Given the description of an element on the screen output the (x, y) to click on. 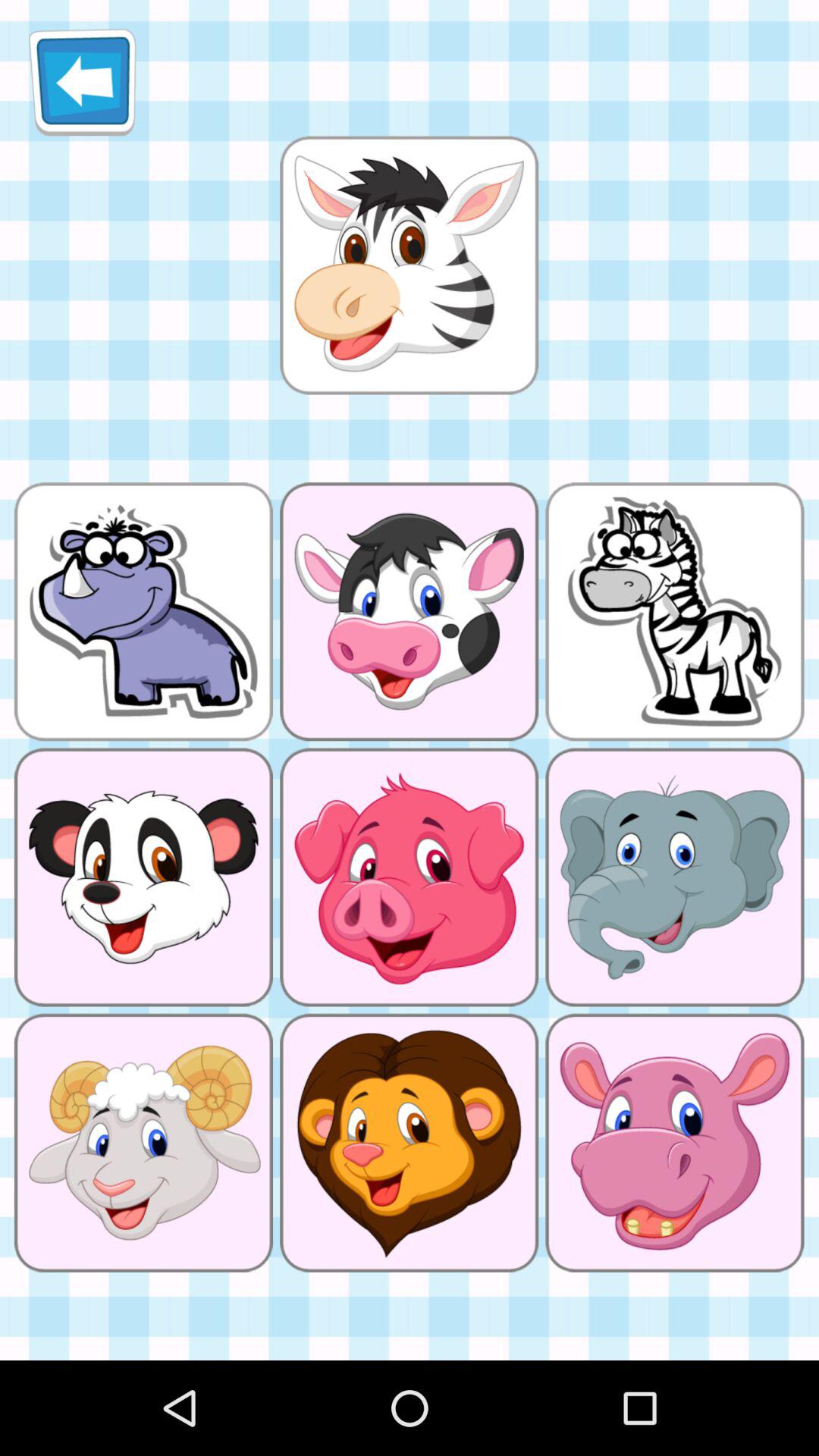
back to previous screen (82, 82)
